Given the description of an element on the screen output the (x, y) to click on. 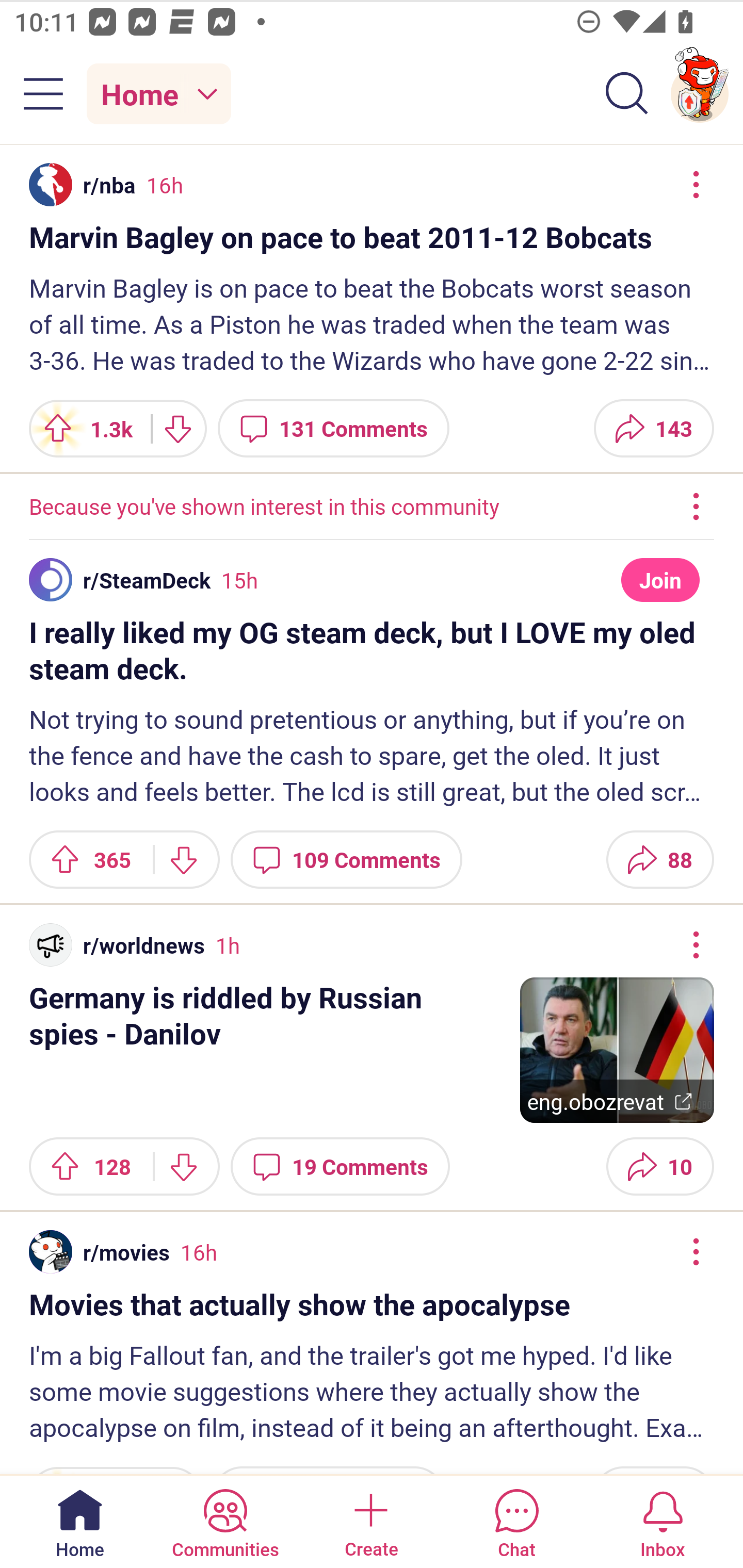
Community menu (43, 93)
Home Home feed (158, 93)
Search (626, 93)
TestAppium002 account (699, 93)
Home (80, 1520)
Communities (225, 1520)
Create a post Create (370, 1520)
Chat (516, 1520)
Inbox (662, 1520)
